Given the description of an element on the screen output the (x, y) to click on. 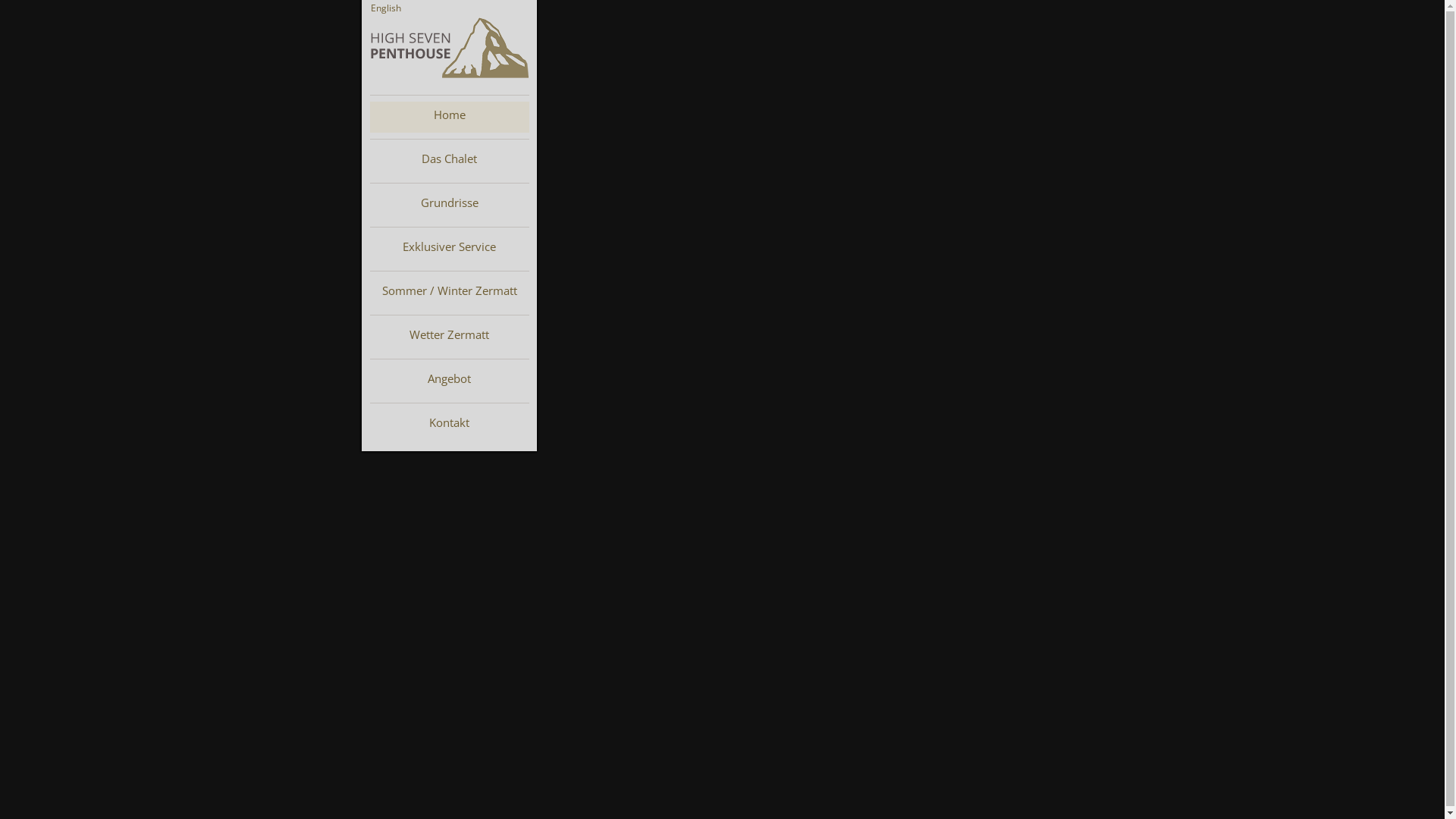
Exklusiver Service Element type: text (449, 248)
Kontakt Element type: text (449, 424)
Das Chalet Element type: text (449, 160)
Grundrisse Element type: text (449, 204)
English Element type: text (385, 7)
Angebot Element type: text (449, 380)
Sommer / Winter Zermatt Element type: text (449, 292)
Home Element type: text (449, 116)
Wetter Zermatt Element type: text (449, 336)
